Given the description of an element on the screen output the (x, y) to click on. 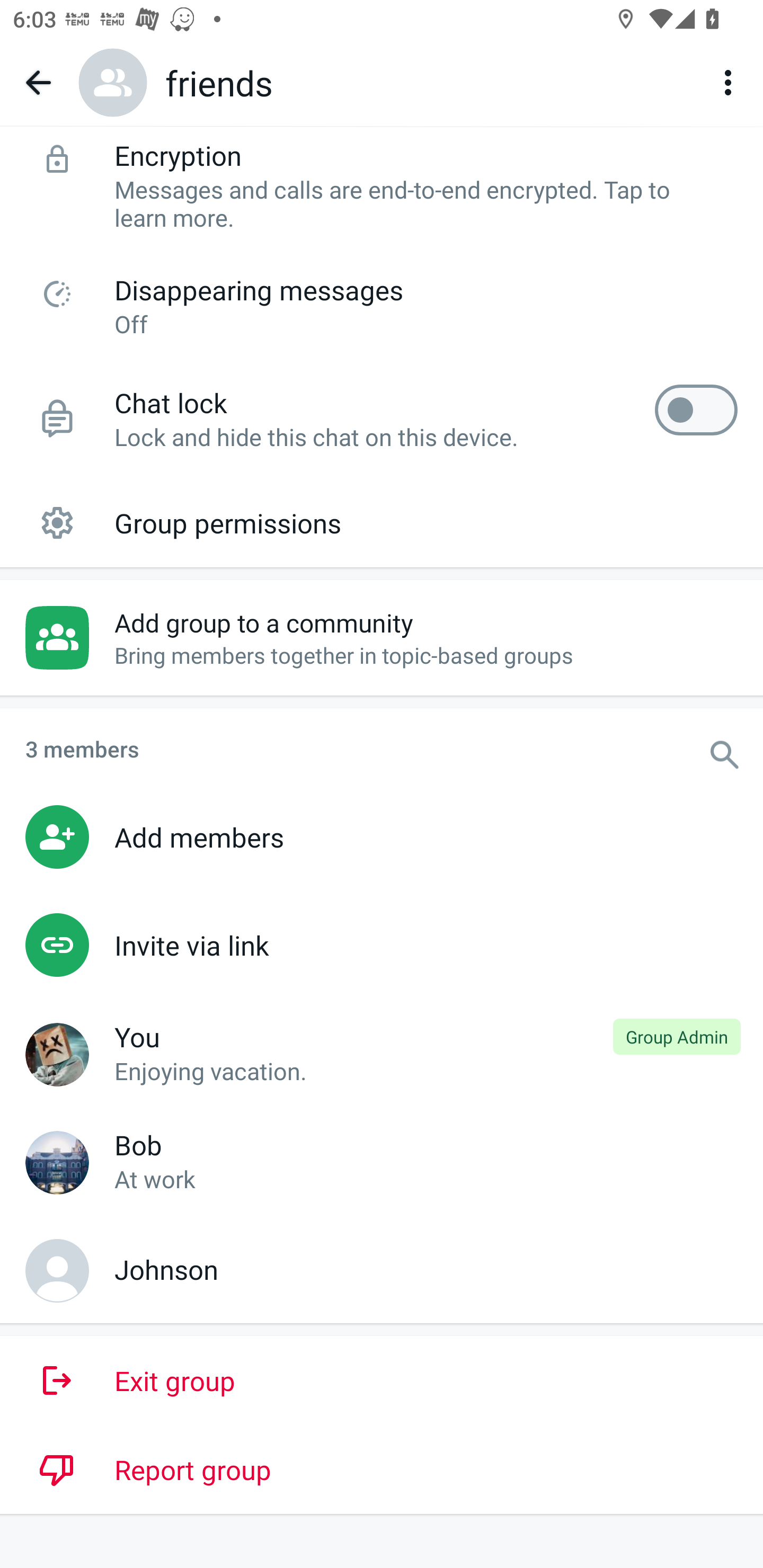
Navigate up (38, 82)
More options (731, 81)
Profile photo (112, 82)
friends (219, 82)
Disappearing messages Off (381, 305)
Group permissions (381, 522)
Search members (734, 745)
Add members (381, 836)
Invite via link (381, 944)
You You Group Admin Enjoying vacation. (381, 1052)
You (59, 1055)
Bob Bob ‎At work (381, 1161)
Bob (59, 1164)
Johnson (381, 1269)
Johnson (59, 1272)
Exit group (381, 1380)
Report group (381, 1469)
